Given the description of an element on the screen output the (x, y) to click on. 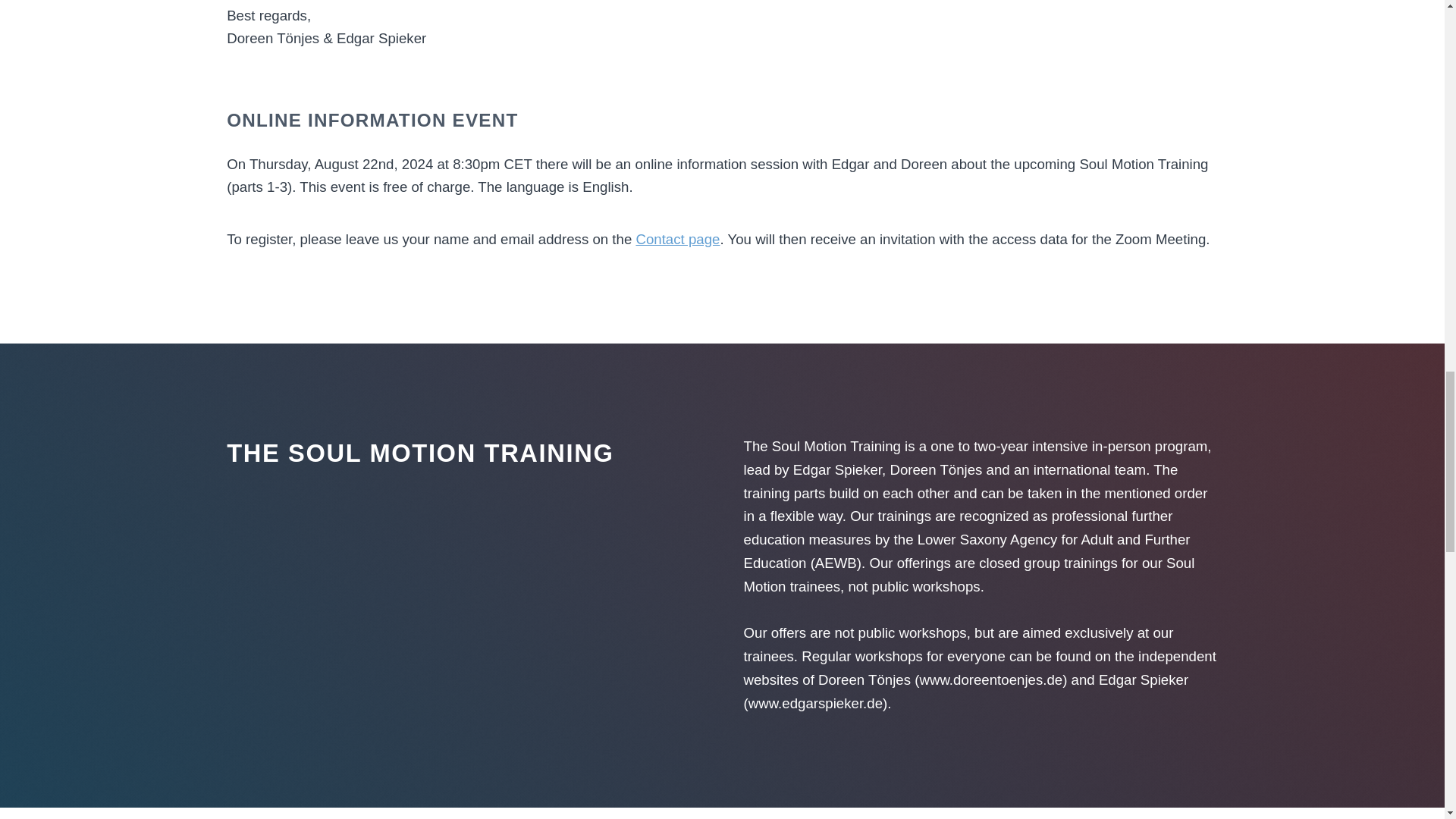
Contact page (676, 238)
